Given the description of an element on the screen output the (x, y) to click on. 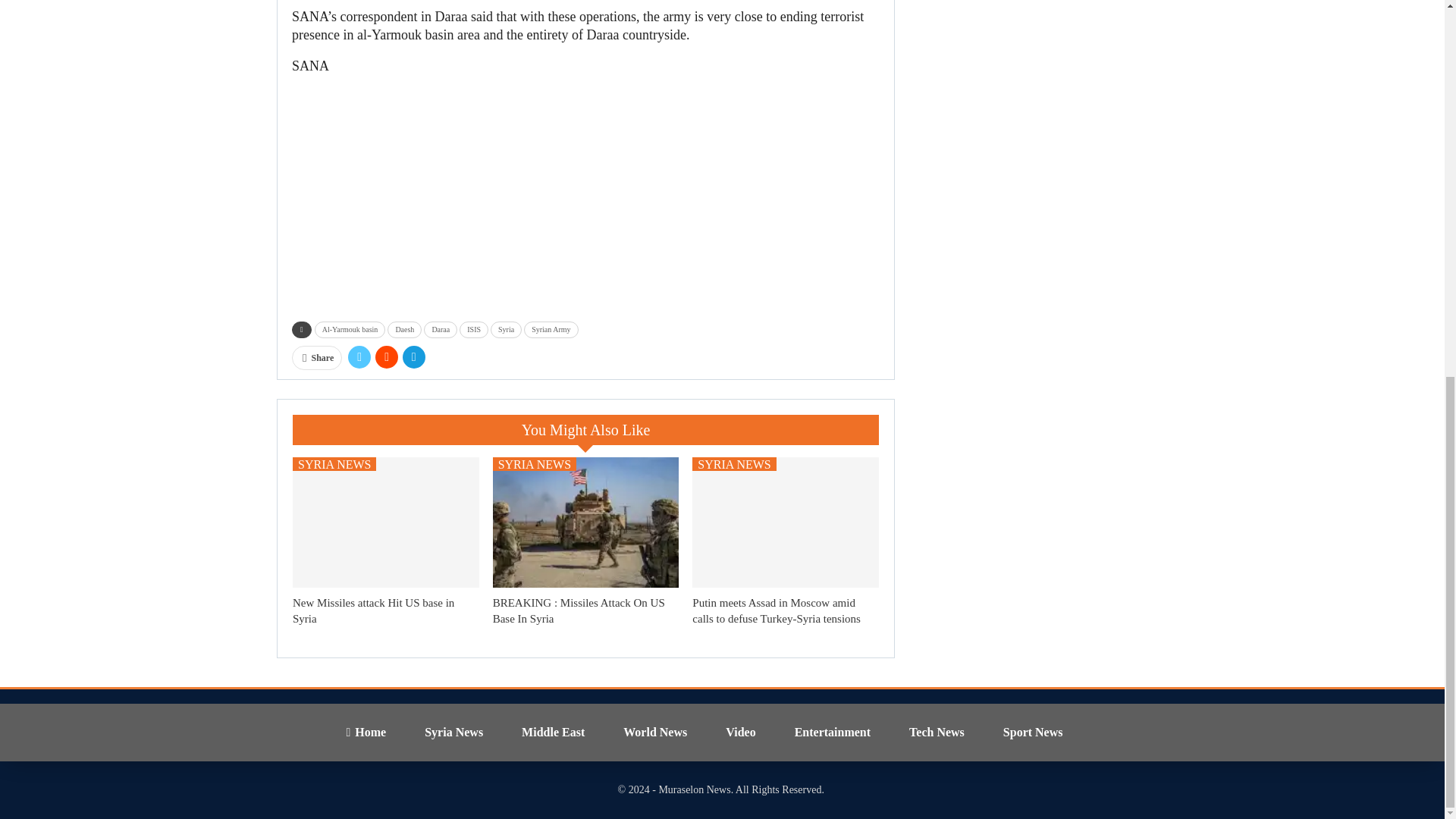
SYRIA NEWS (534, 463)
Daraa (440, 329)
SYRIA NEWS (333, 463)
ISIS (473, 329)
Syria News (454, 731)
Home (365, 731)
SYRIA NEWS (734, 463)
New Missiles attack Hit US base in Syria (373, 610)
BREAKING : Missiles Attack On US Base In Syria (586, 522)
Daesh (404, 329)
Al-Yarmouk basin (349, 329)
New Missiles attack Hit US base in Syria (373, 610)
Syria (505, 329)
